Given the description of an element on the screen output the (x, y) to click on. 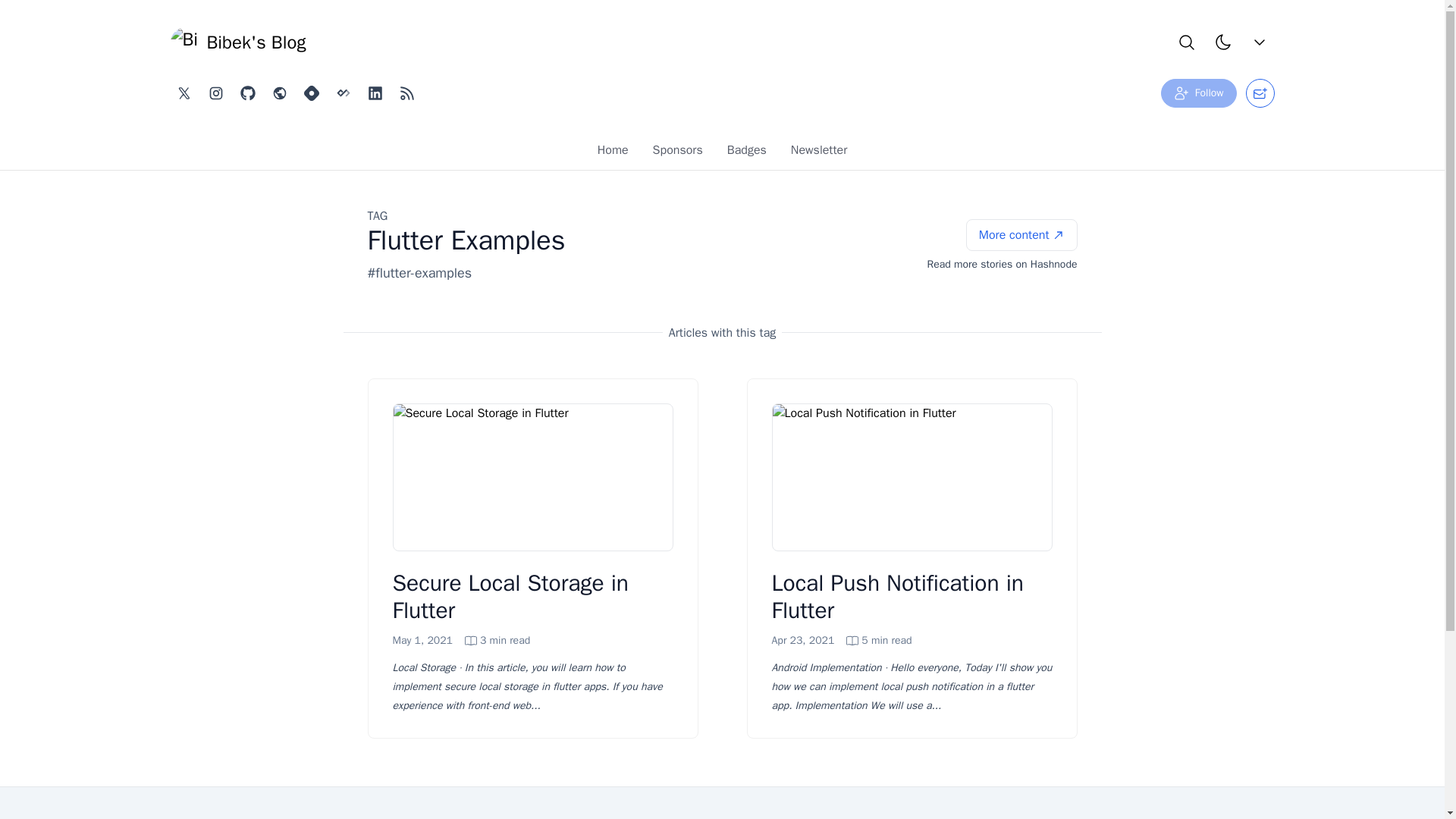
Sponsors (722, 150)
Newsletter (841, 640)
Badges (677, 153)
Home (818, 153)
Follow (746, 153)
Bibek's Blog (462, 640)
More content (612, 153)
Secure Local Storage in Flutter (1198, 92)
Local Push Notification in Flutter (237, 42)
